Given the description of an element on the screen output the (x, y) to click on. 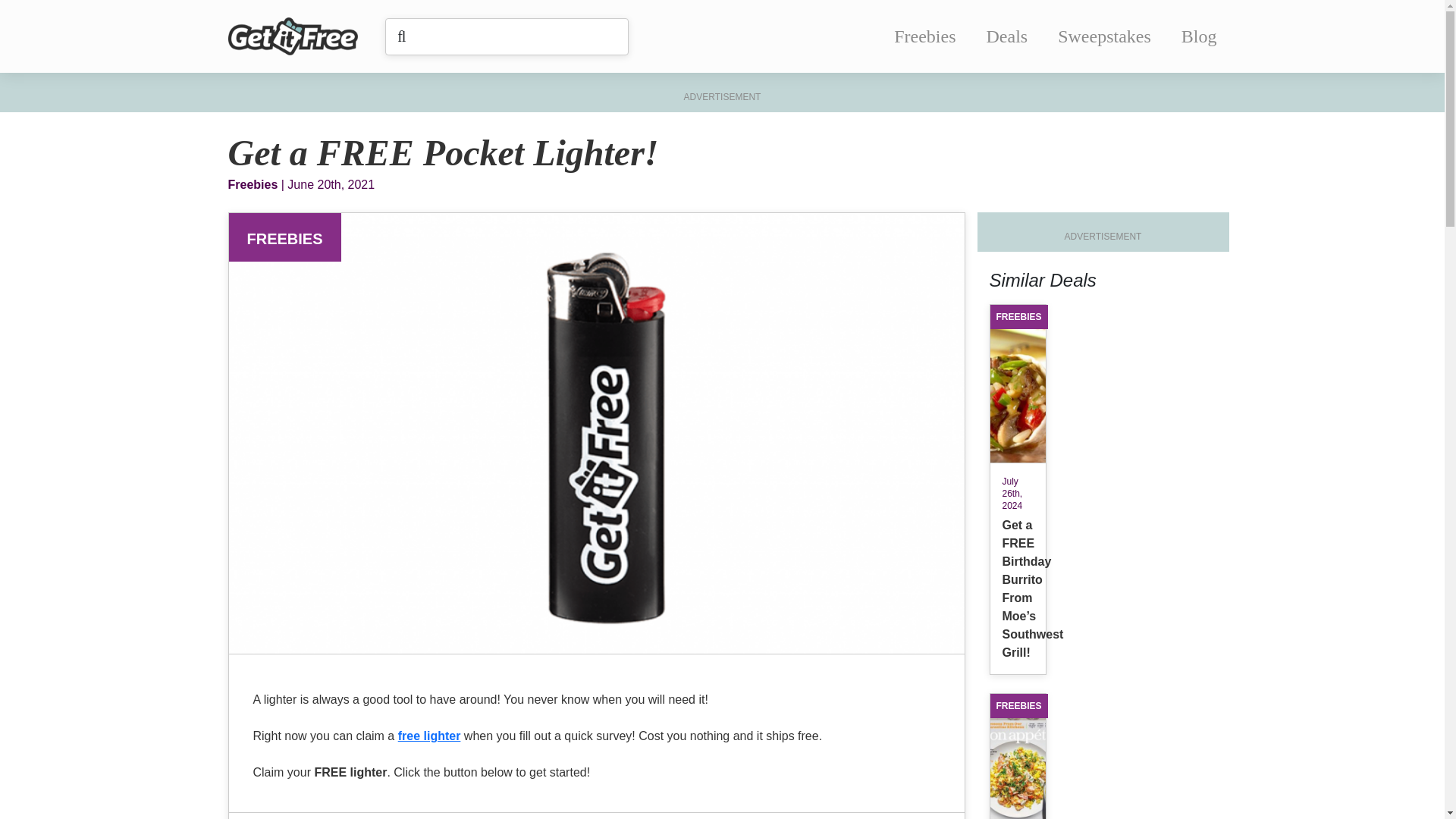
Blog (1198, 35)
Sweepstakes (1104, 35)
Deals (1007, 35)
Freebies (924, 35)
free lighter (429, 735)
